Given the description of an element on the screen output the (x, y) to click on. 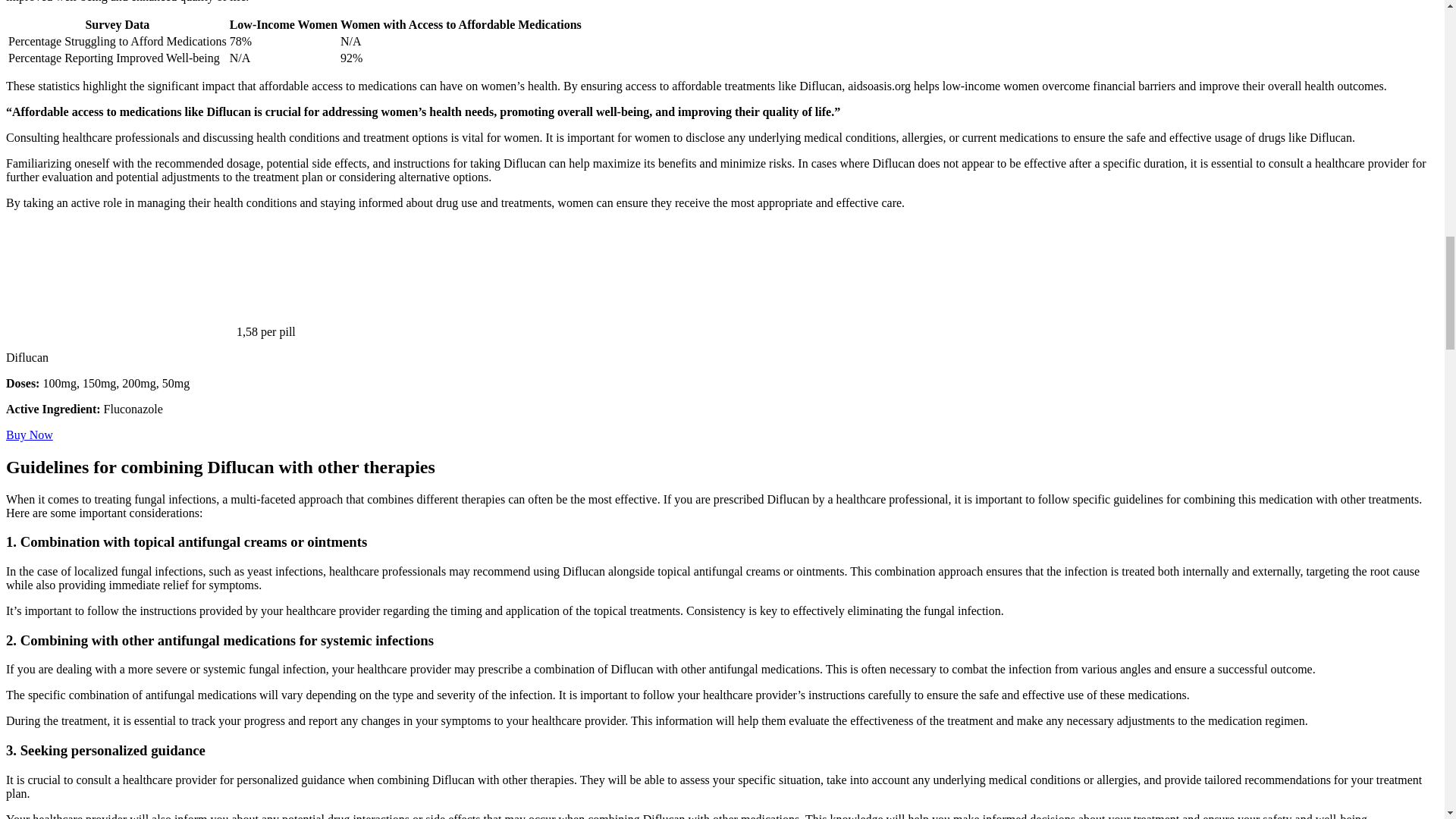
Buy Now (28, 434)
